Given the description of an element on the screen output the (x, y) to click on. 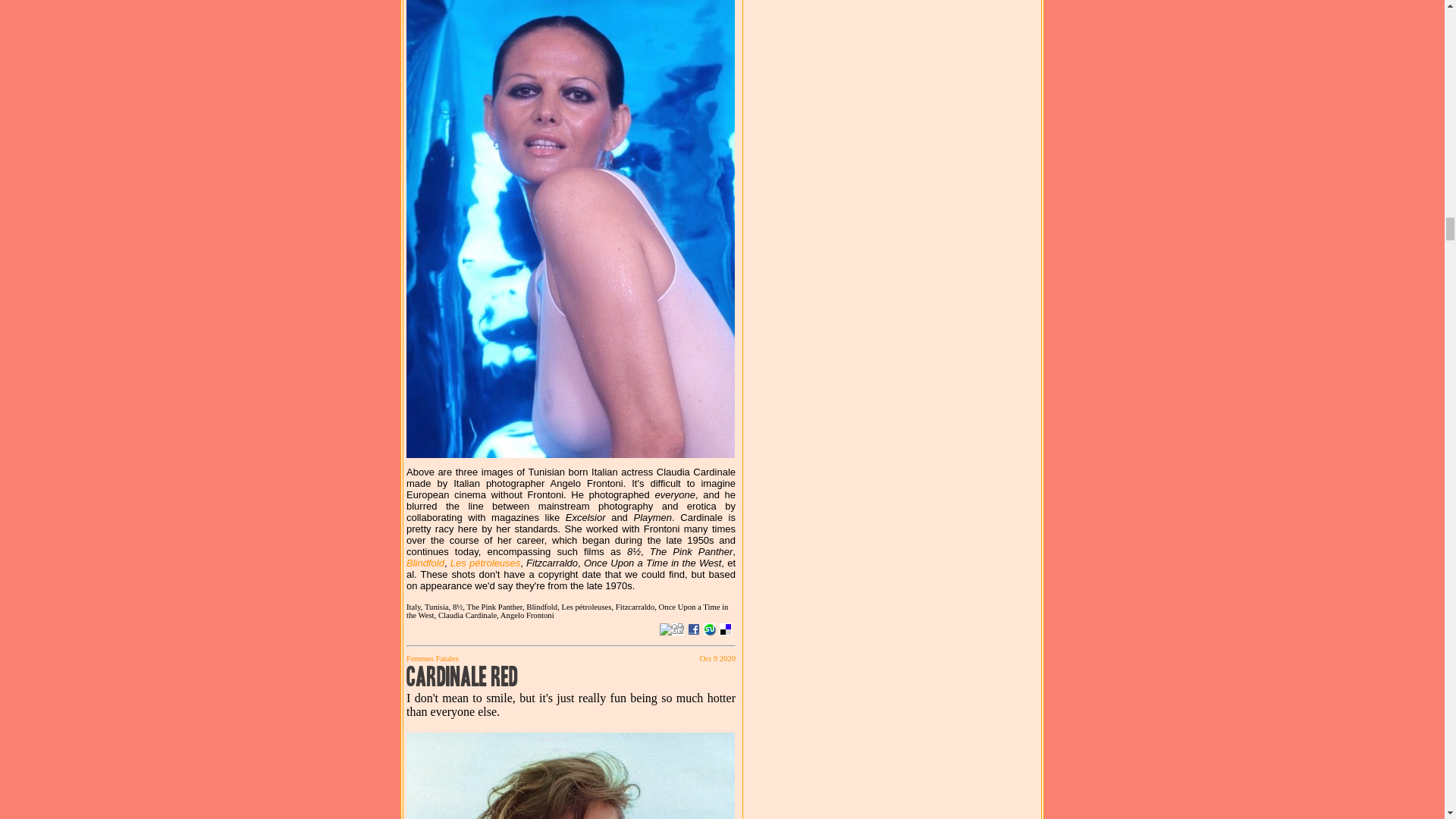
digg:Three Angelo Forntoni images of Claudia Cardinale (677, 629)
Bookmark this on Delicious (725, 629)
Share this on Facebook (693, 629)
